Given the description of an element on the screen output the (x, y) to click on. 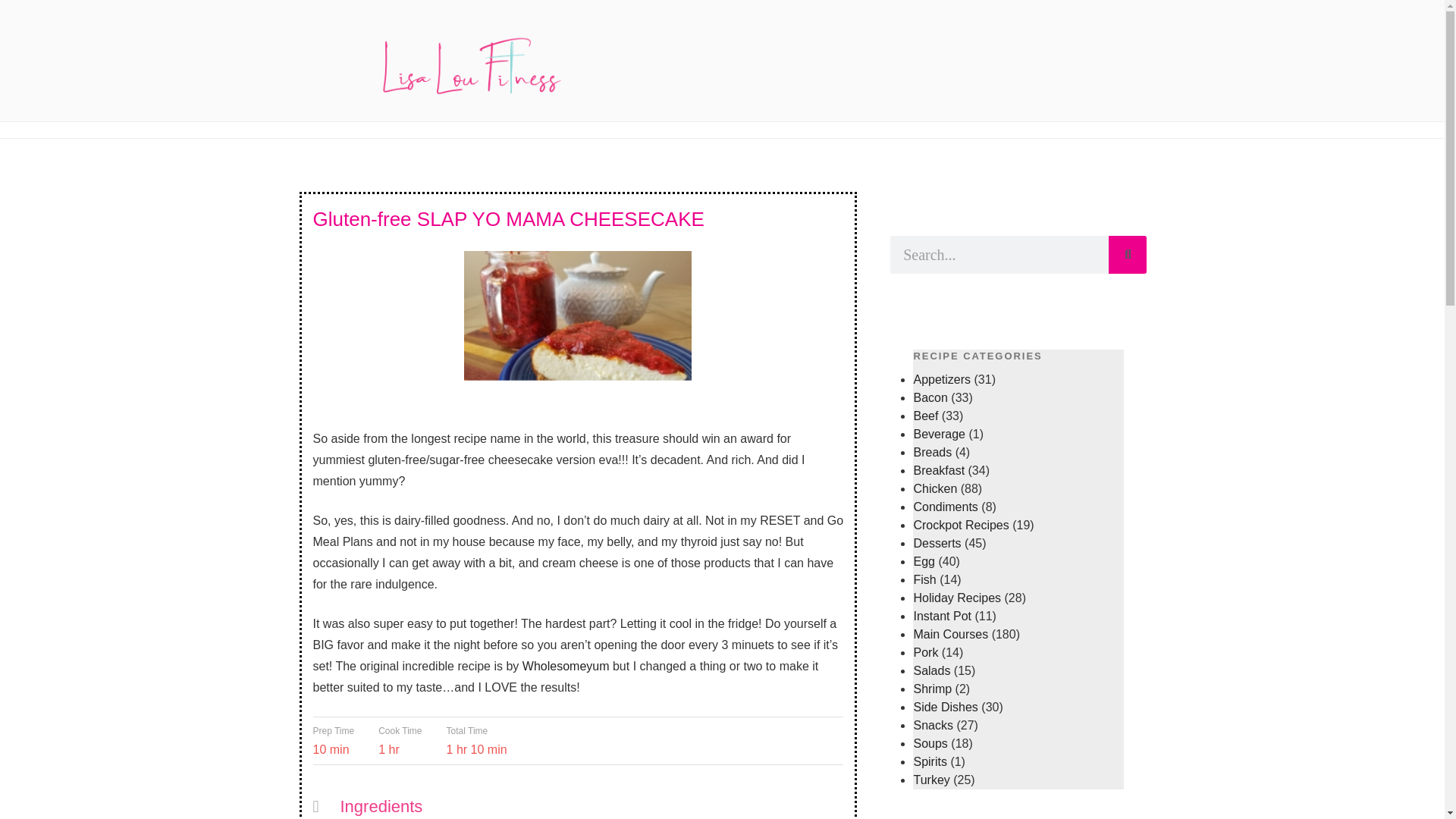
Turkey (930, 779)
Appetizers (941, 379)
Snacks (932, 725)
Wholesomeyum (566, 666)
Instant Pot (941, 615)
Desserts (936, 543)
Crockpot Recipes (960, 524)
Spirits (929, 761)
Beef (924, 415)
Breakfast (937, 470)
Holiday Recipes (956, 597)
Pork (924, 652)
Breads (932, 451)
Salads (931, 670)
Main Courses (950, 634)
